Given the description of an element on the screen output the (x, y) to click on. 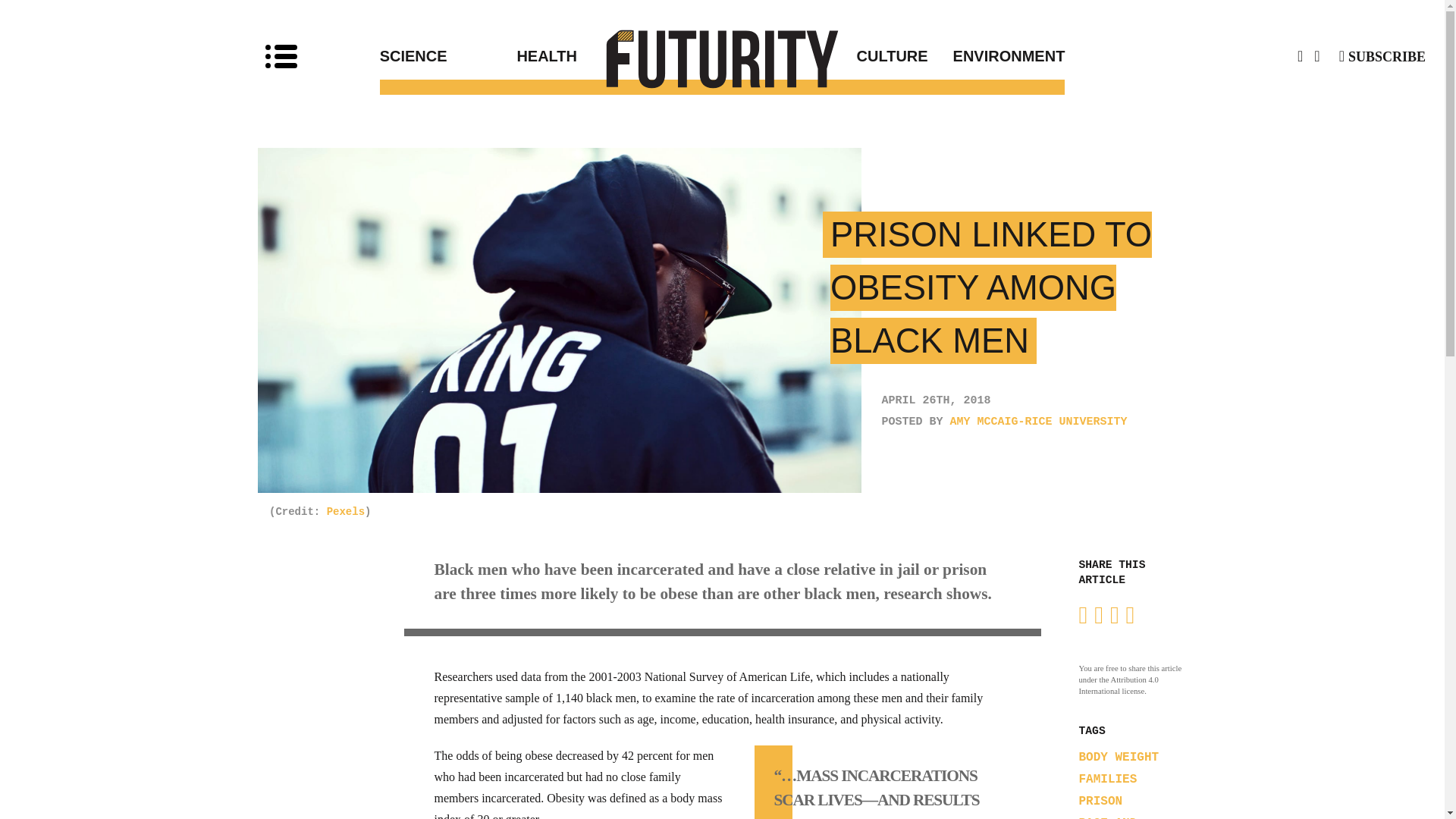
AMY MCCAIG-RICE UNIVERSITY (1038, 421)
Science (448, 55)
PRISON (1100, 801)
HEALTH (619, 55)
BODY WEIGHT (1118, 757)
Environment (996, 55)
Culture (824, 55)
SCIENCE (448, 55)
Research news from top universities (722, 58)
SUBSCRIBE (1382, 56)
CULTURE (824, 55)
ENVIRONMENT (996, 55)
RACE AND ETHNICITY (1110, 817)
FAMILIES (1107, 779)
Health (619, 55)
